Given the description of an element on the screen output the (x, y) to click on. 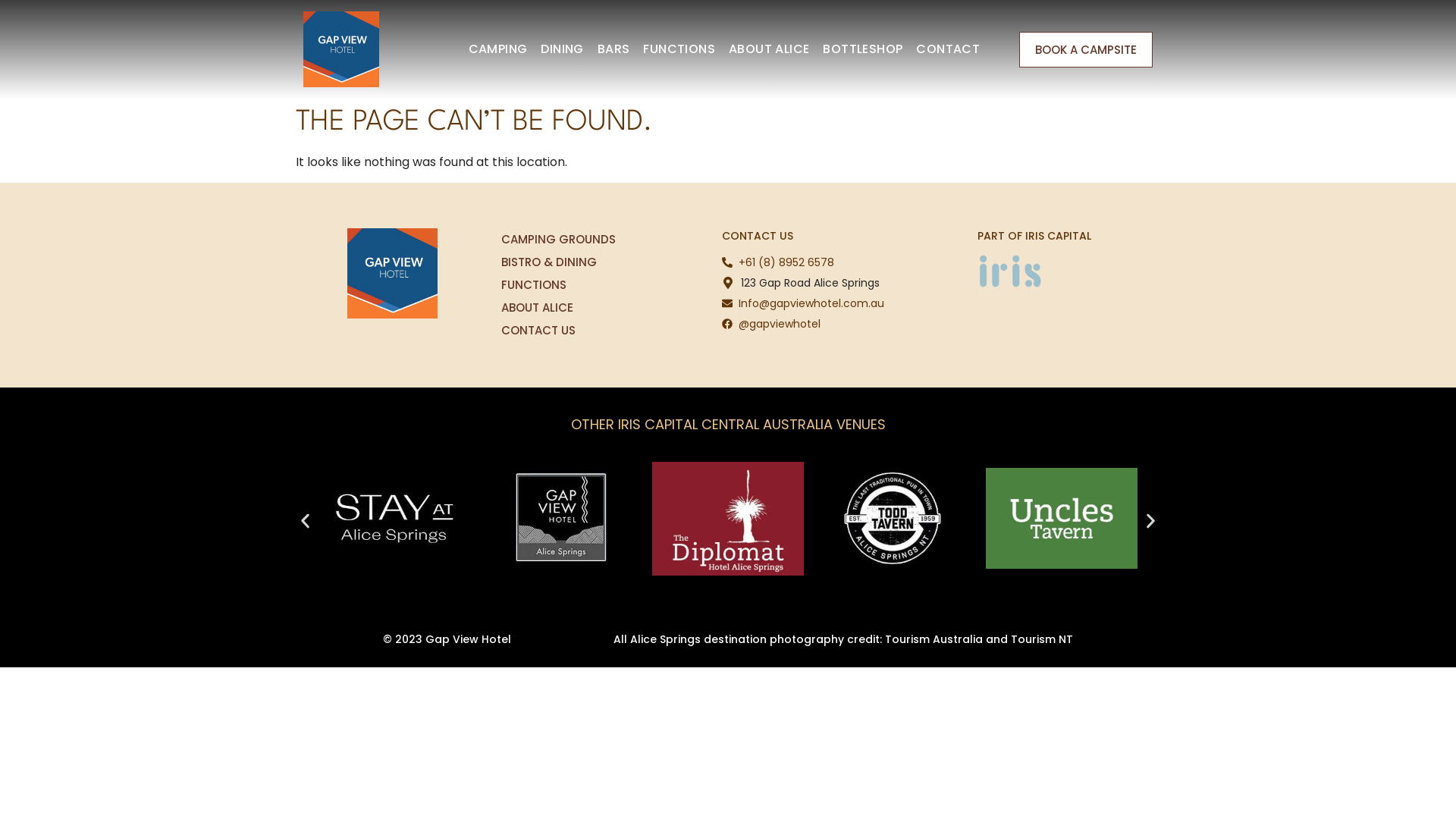
CONTACT Element type: text (947, 48)
BARS Element type: text (613, 48)
FUNCTIONS Element type: text (558, 284)
DINING Element type: text (561, 48)
BOTTLESHOP Element type: text (862, 48)
+61 (8) 8952 6578 Element type: text (777, 262)
@gapviewhotel Element type: text (771, 324)
BISTRO & DINING Element type: text (558, 261)
ABOUT ALICE Element type: text (558, 306)
BOOK A CAMPSITE Element type: text (1085, 49)
CONTACT US Element type: text (558, 329)
FUNCTIONS Element type: text (678, 48)
ABOUT ALICE Element type: text (768, 48)
CAMPING Element type: text (497, 48)
Info@gapviewhotel.com.au Element type: text (802, 303)
CAMPING GROUNDS Element type: text (558, 238)
